Given the description of an element on the screen output the (x, y) to click on. 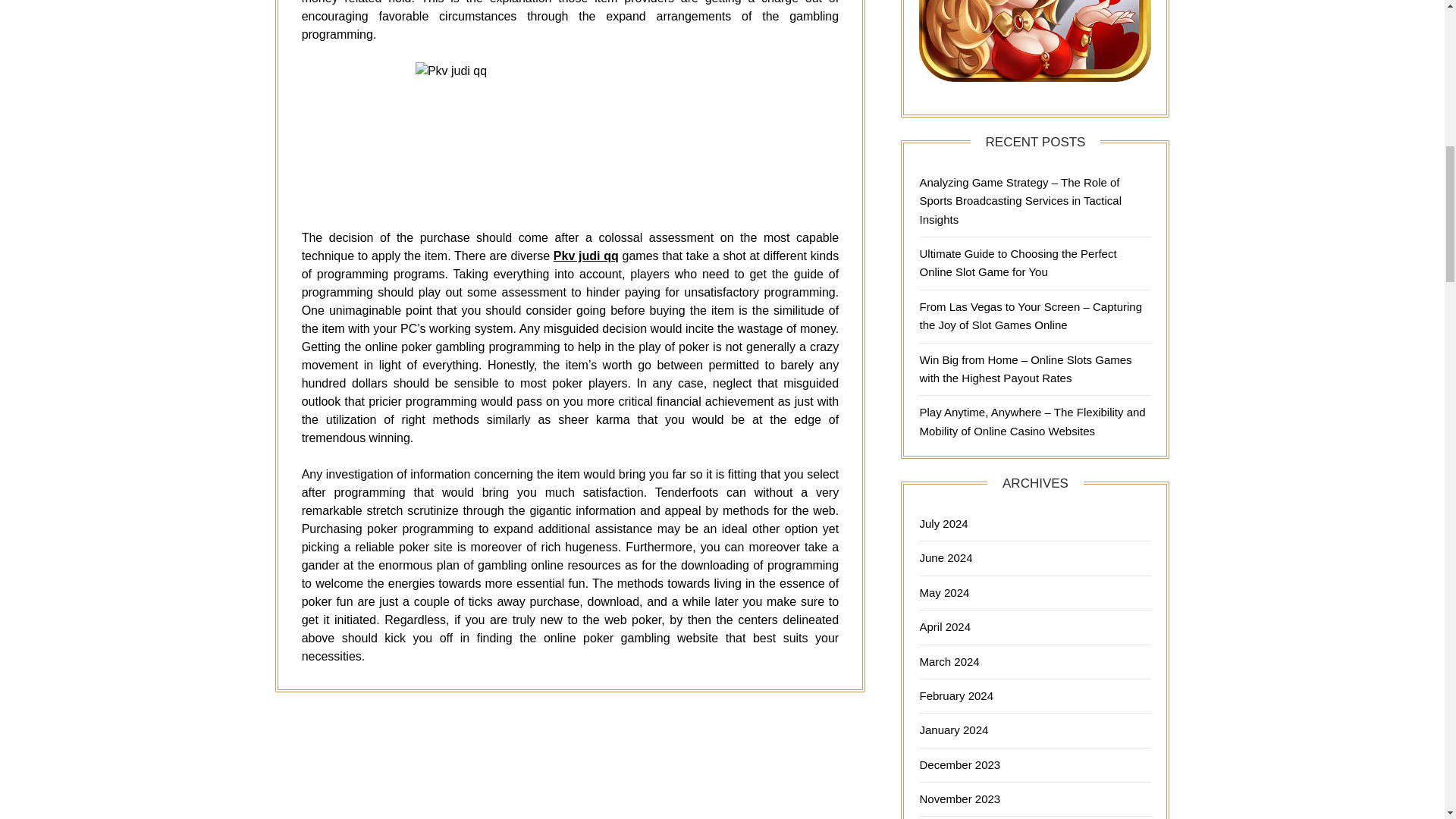
April 2024 (944, 626)
December 2023 (959, 764)
Pkv judi qq (585, 255)
July 2024 (943, 522)
January 2024 (953, 729)
June 2024 (945, 557)
February 2024 (955, 695)
May 2024 (943, 592)
November 2023 (959, 798)
March 2024 (948, 661)
